Given the description of an element on the screen output the (x, y) to click on. 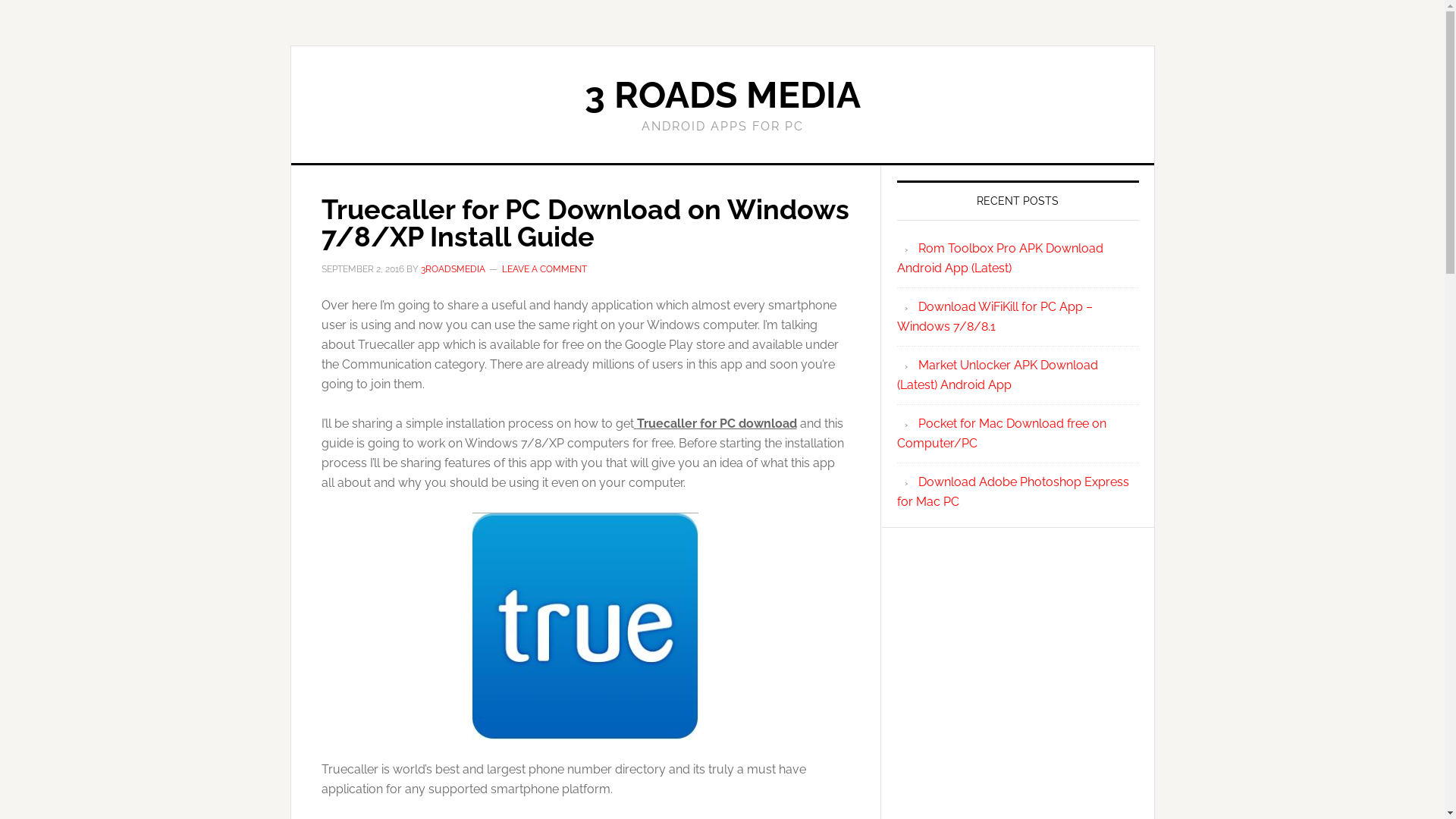
3 ROADS MEDIA Element type: text (721, 94)
Market Unlocker APK Download (Latest) Android App Element type: text (996, 374)
LEAVE A COMMENT Element type: text (544, 268)
Rom Toolbox Pro APK Download Android App (Latest) Element type: text (999, 258)
Download Adobe Photoshop Express for Mac PC Element type: text (1012, 491)
Pocket for Mac Download free on Computer/PC Element type: text (1000, 433)
3ROADSMEDIA Element type: text (452, 268)
